Given the description of an element on the screen output the (x, y) to click on. 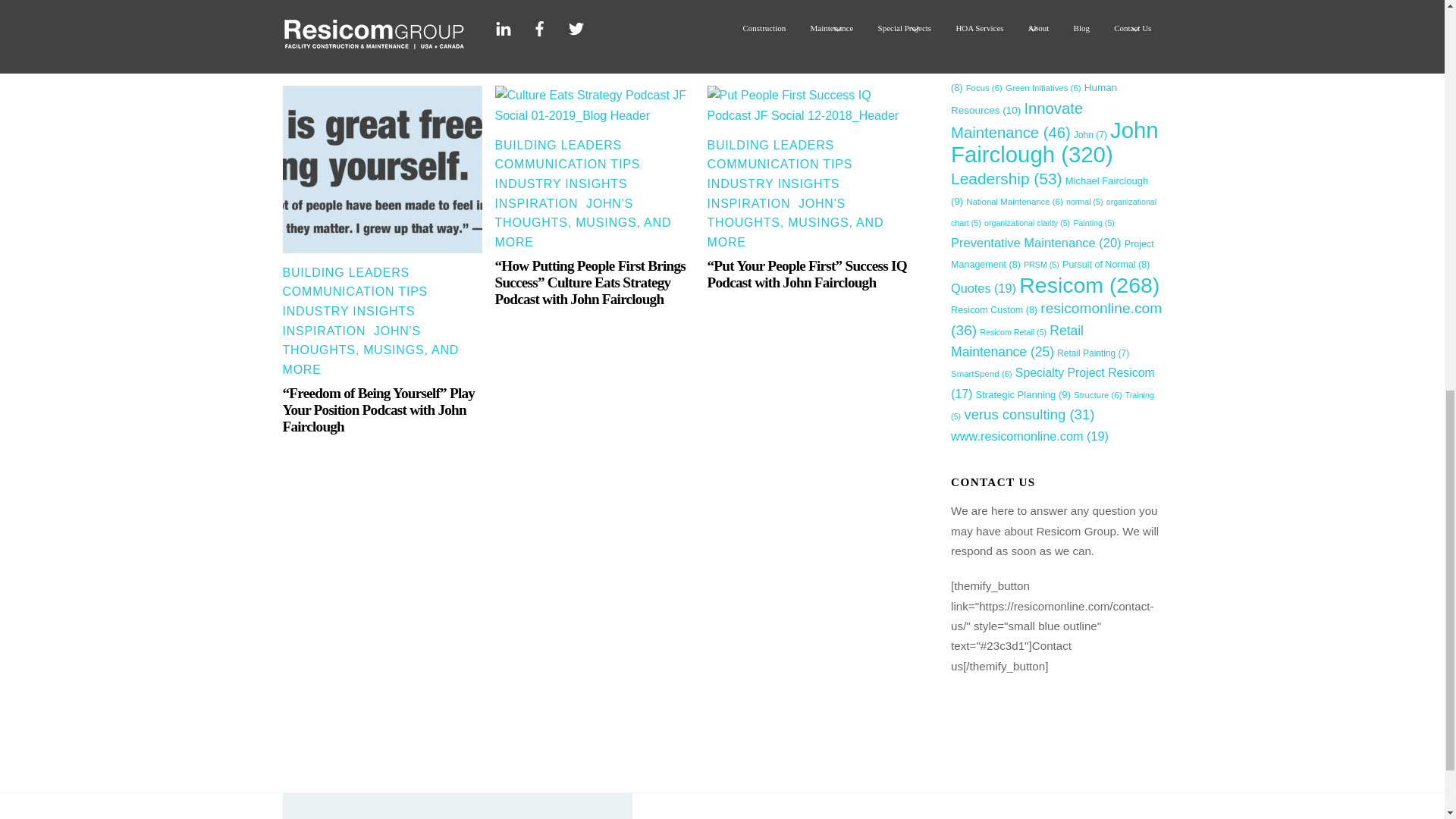
COMMUNICATION TIPS (567, 164)
COMMUNICATION TIPS (355, 291)
INDUSTRY INSIGHTS (348, 310)
JOHN'S THOUGHTS, MUSINGS, AND MORE (583, 222)
INSPIRATION (536, 203)
BUILDING LEADERS (559, 144)
BUILDING LEADERS (345, 272)
JOHN'S THOUGHTS, MUSINGS, AND MORE (370, 349)
INSPIRATION (323, 330)
INDUSTRY INSIGHTS (561, 183)
